Given the description of an element on the screen output the (x, y) to click on. 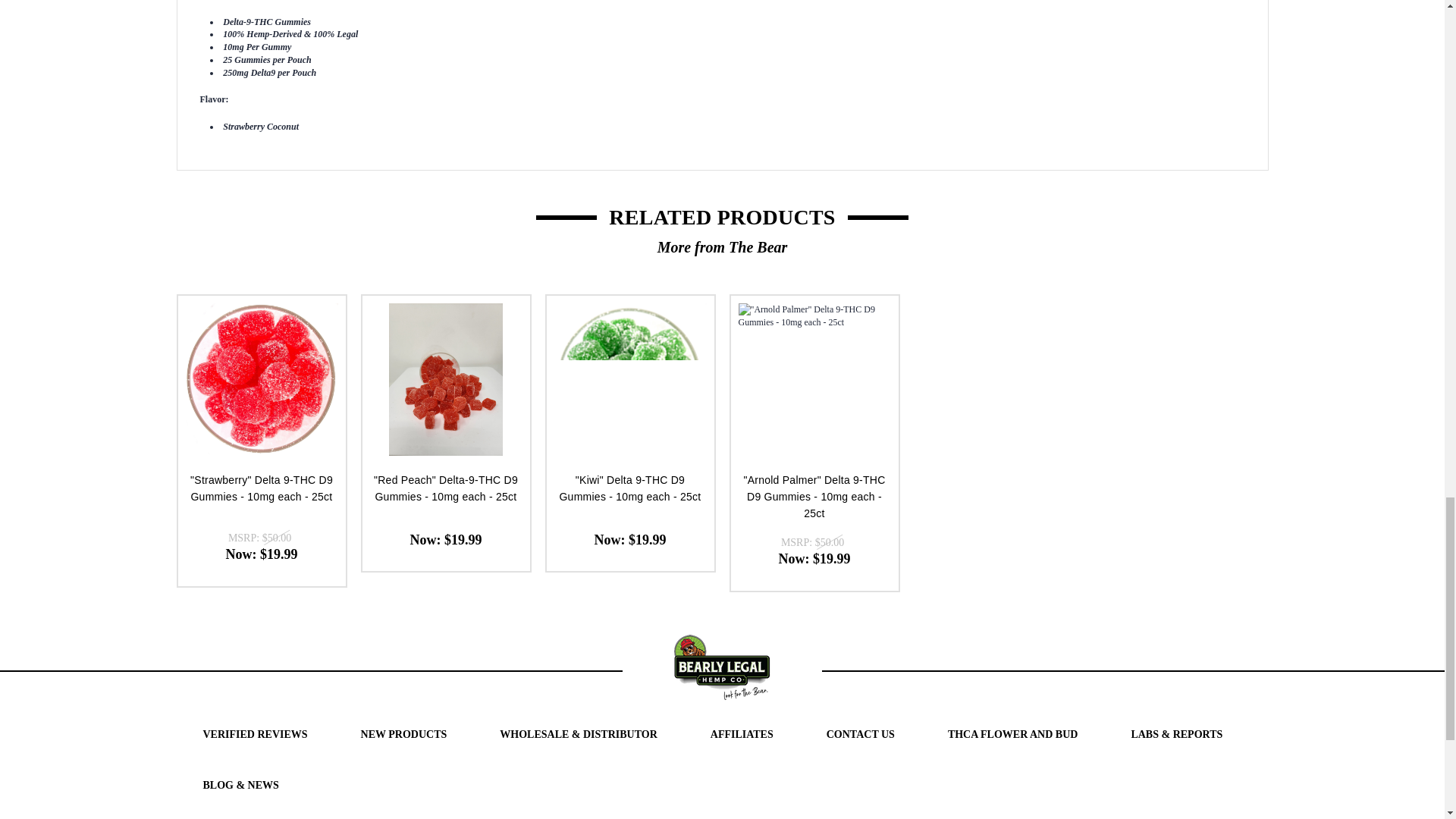
"Strawberry" Delta 9-THC D9 Gummies - 10mg each - 25ct (260, 379)
